Given the description of an element on the screen output the (x, y) to click on. 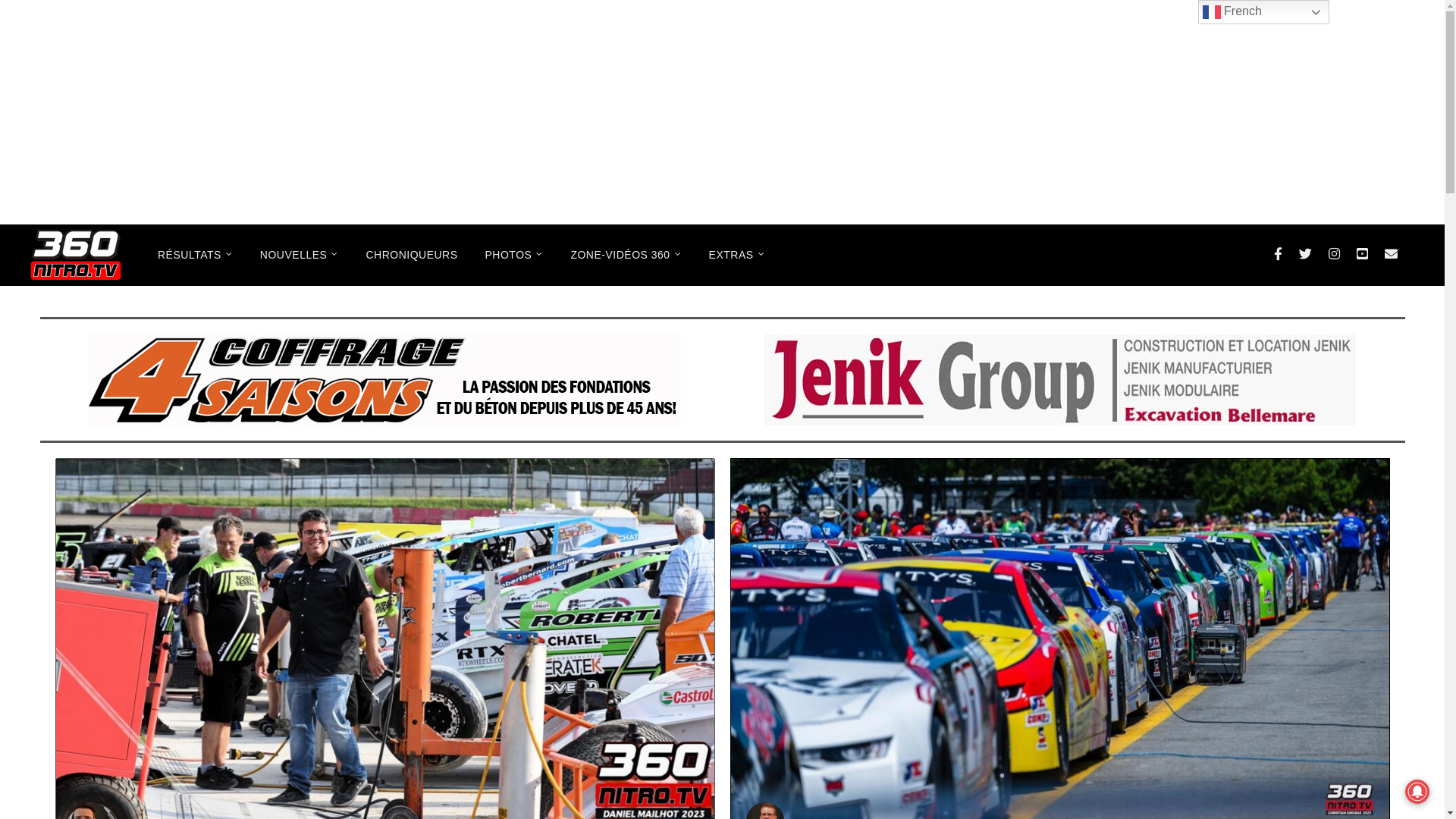
Twitter Element type: hover (1305, 253)
Facebook Element type: hover (1277, 253)
Email Element type: hover (1390, 253)
Youtube Element type: hover (1362, 253)
French Element type: text (1263, 12)
360 Nitro TV Element type: hover (75, 255)
CHRONIQUEURS Element type: text (410, 254)
NOUVELLES Element type: text (299, 254)
EXTRAS Element type: text (736, 254)
Advertisement Element type: hover (721, 112)
PHOTOS Element type: text (514, 254)
Instagram Element type: hover (1334, 253)
